Given the description of an element on the screen output the (x, y) to click on. 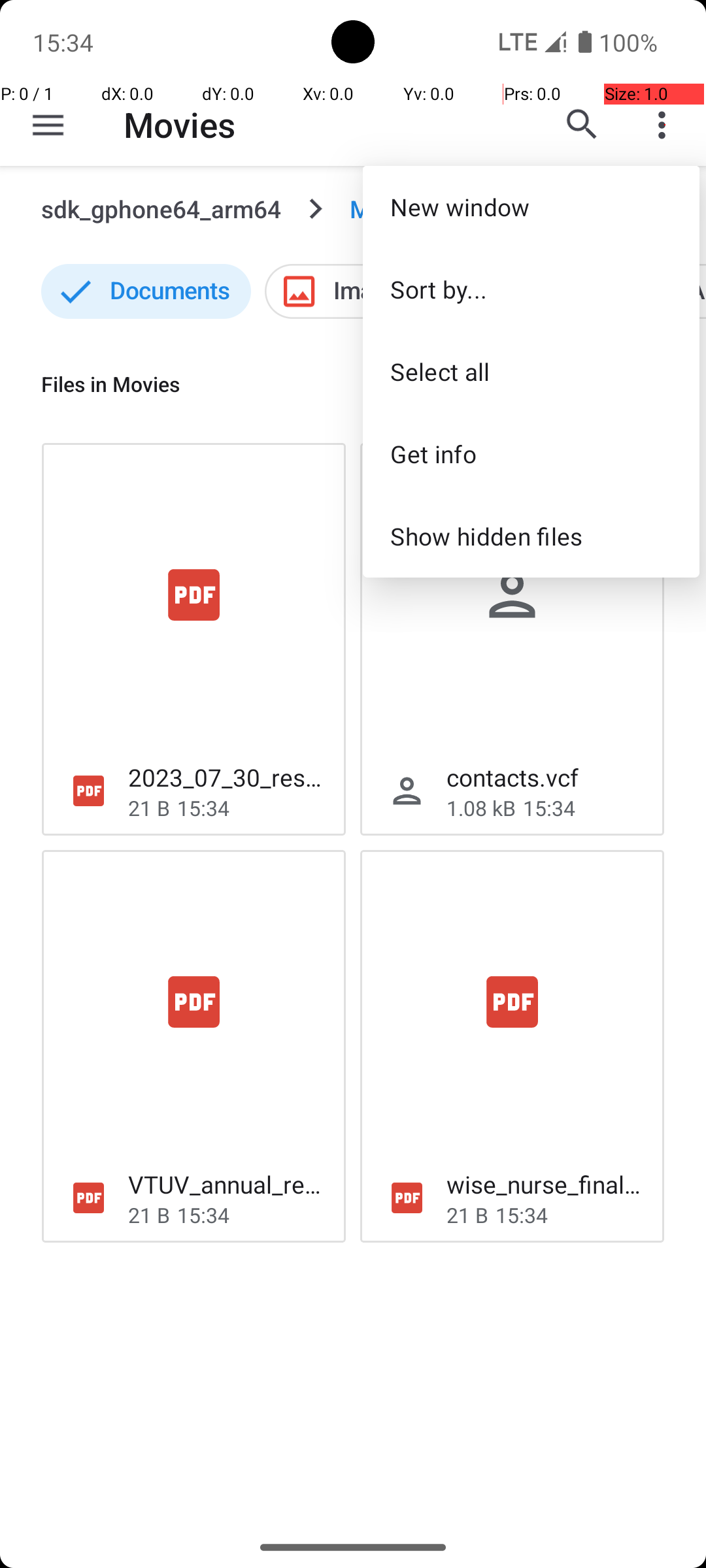
New window Element type: android.widget.TextView (531, 206)
Sort by... Element type: android.widget.TextView (531, 288)
Select all Element type: android.widget.TextView (531, 371)
Get info Element type: android.widget.TextView (531, 453)
Show hidden files Element type: android.widget.TextView (531, 535)
